Given the description of an element on the screen output the (x, y) to click on. 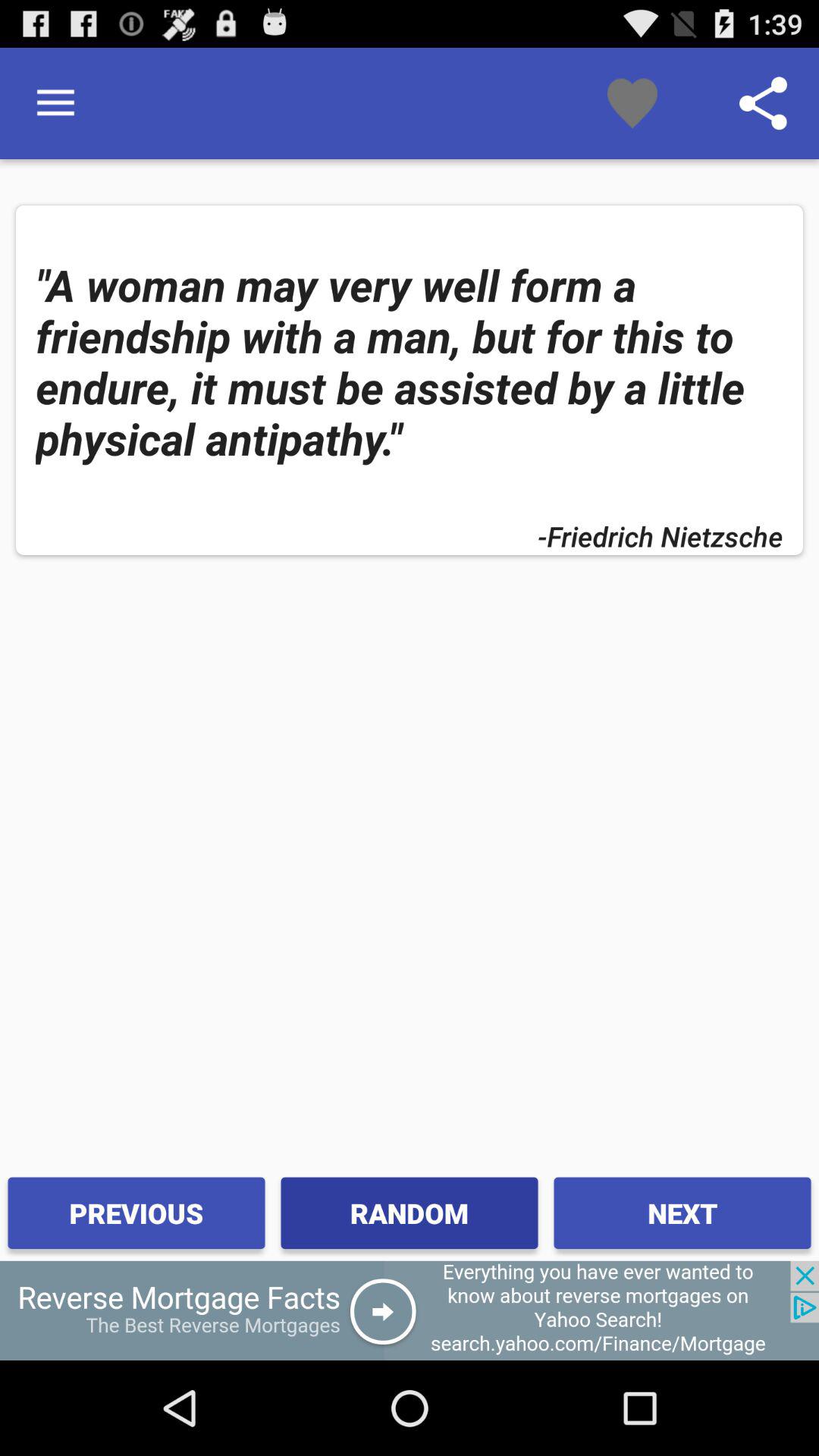
advertisement area (409, 1310)
